Given the description of an element on the screen output the (x, y) to click on. 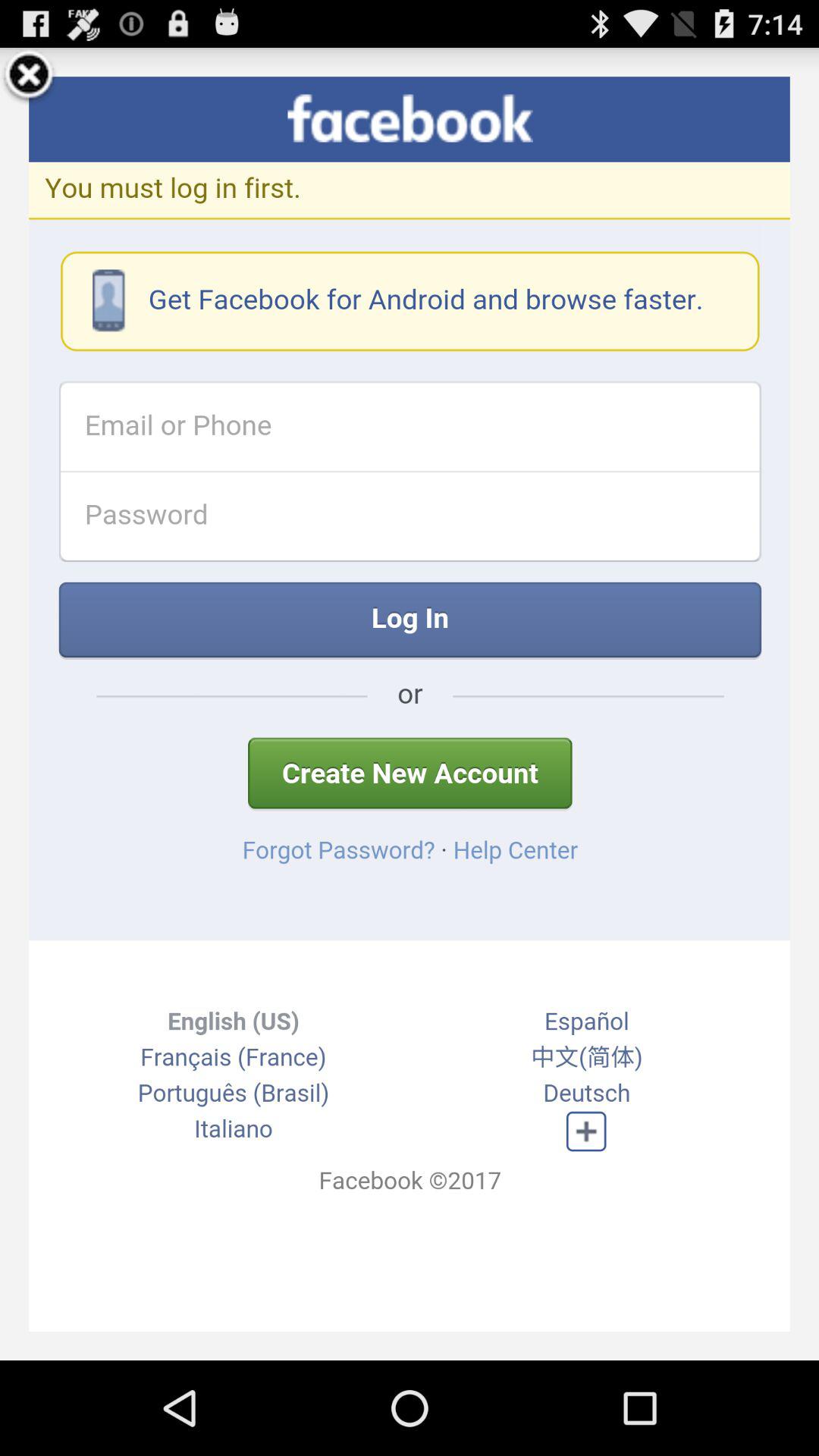
close the page (29, 76)
